Given the description of an element on the screen output the (x, y) to click on. 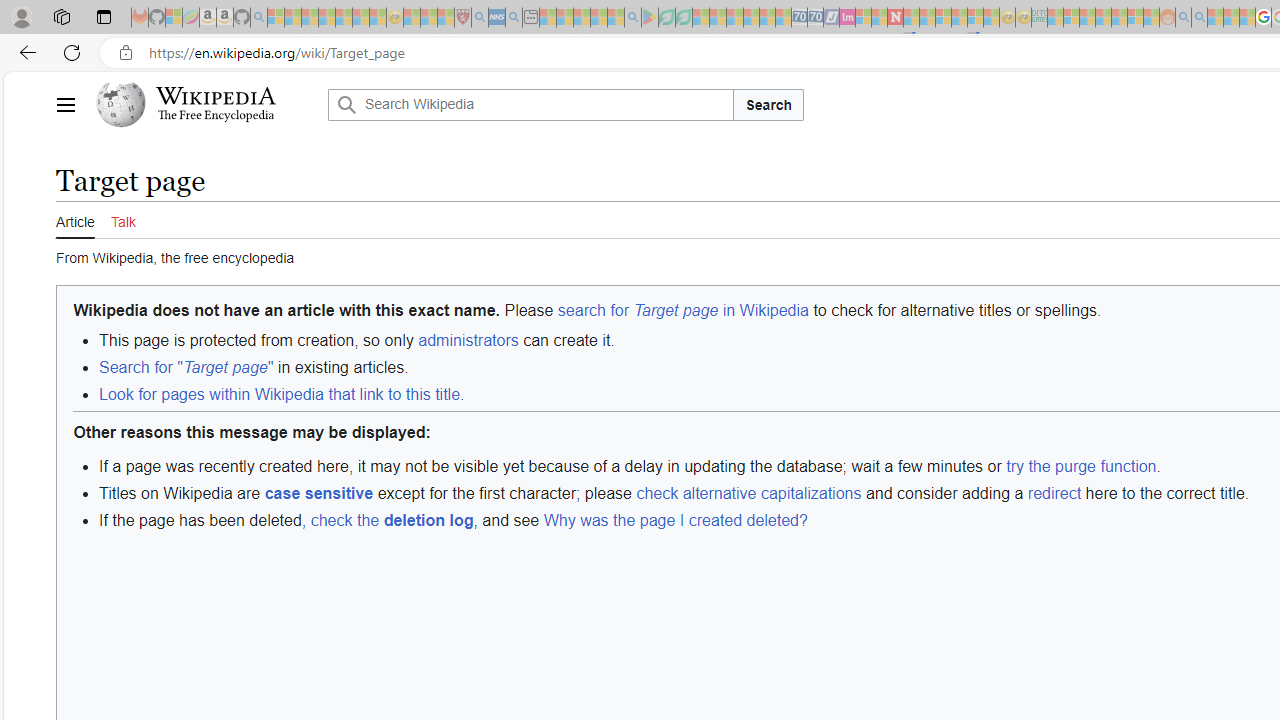
Search Wikipedia (530, 104)
The Free Encyclopedia (216, 116)
Wikipedia The Free Encyclopedia (206, 104)
check the deletion log (391, 520)
